Given the description of an element on the screen output the (x, y) to click on. 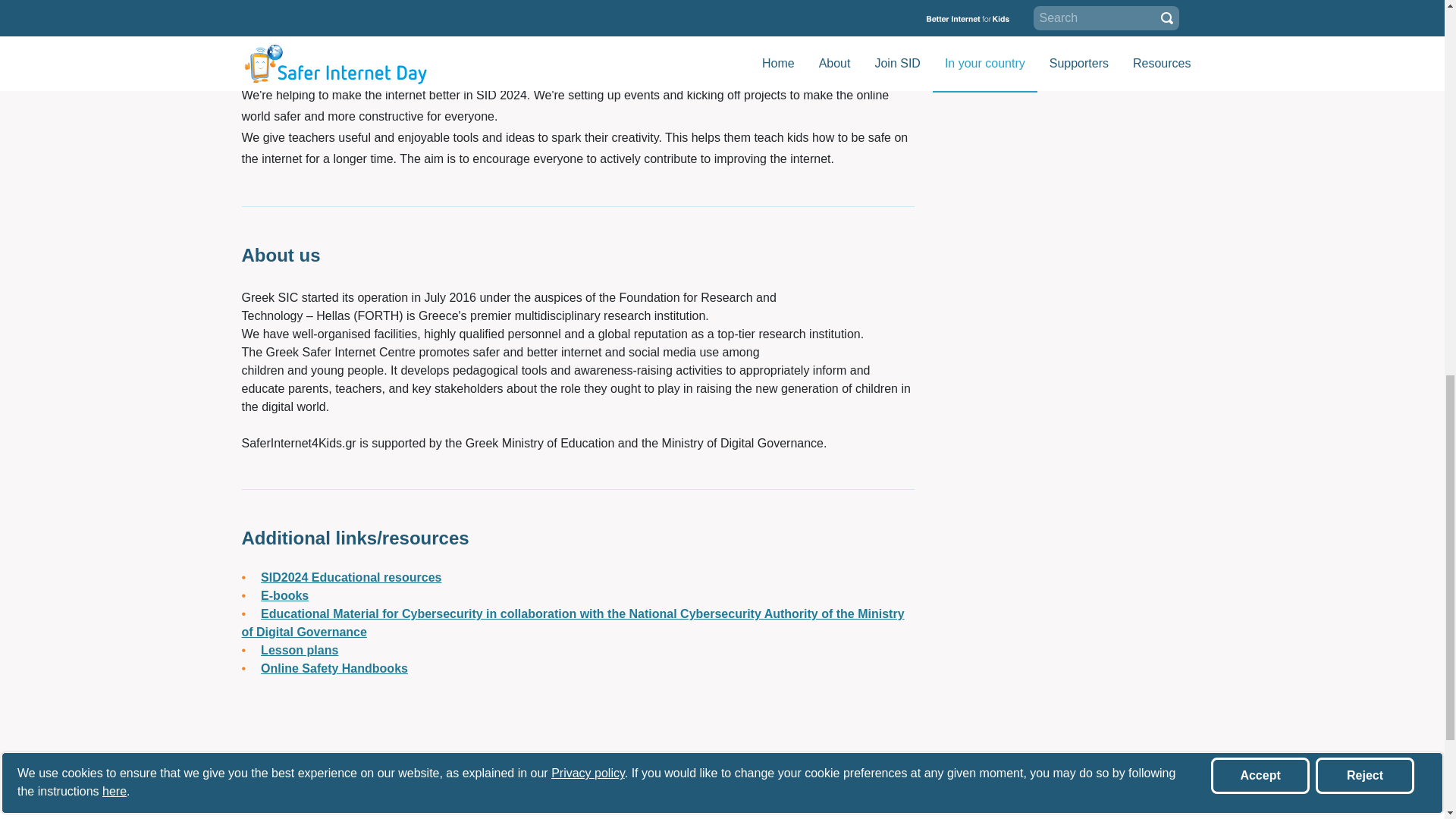
Twitter link (968, 49)
SID2024 Educational resources (350, 576)
Lesson plans (298, 649)
Online Safety Handbooks (333, 667)
